Given the description of an element on the screen output the (x, y) to click on. 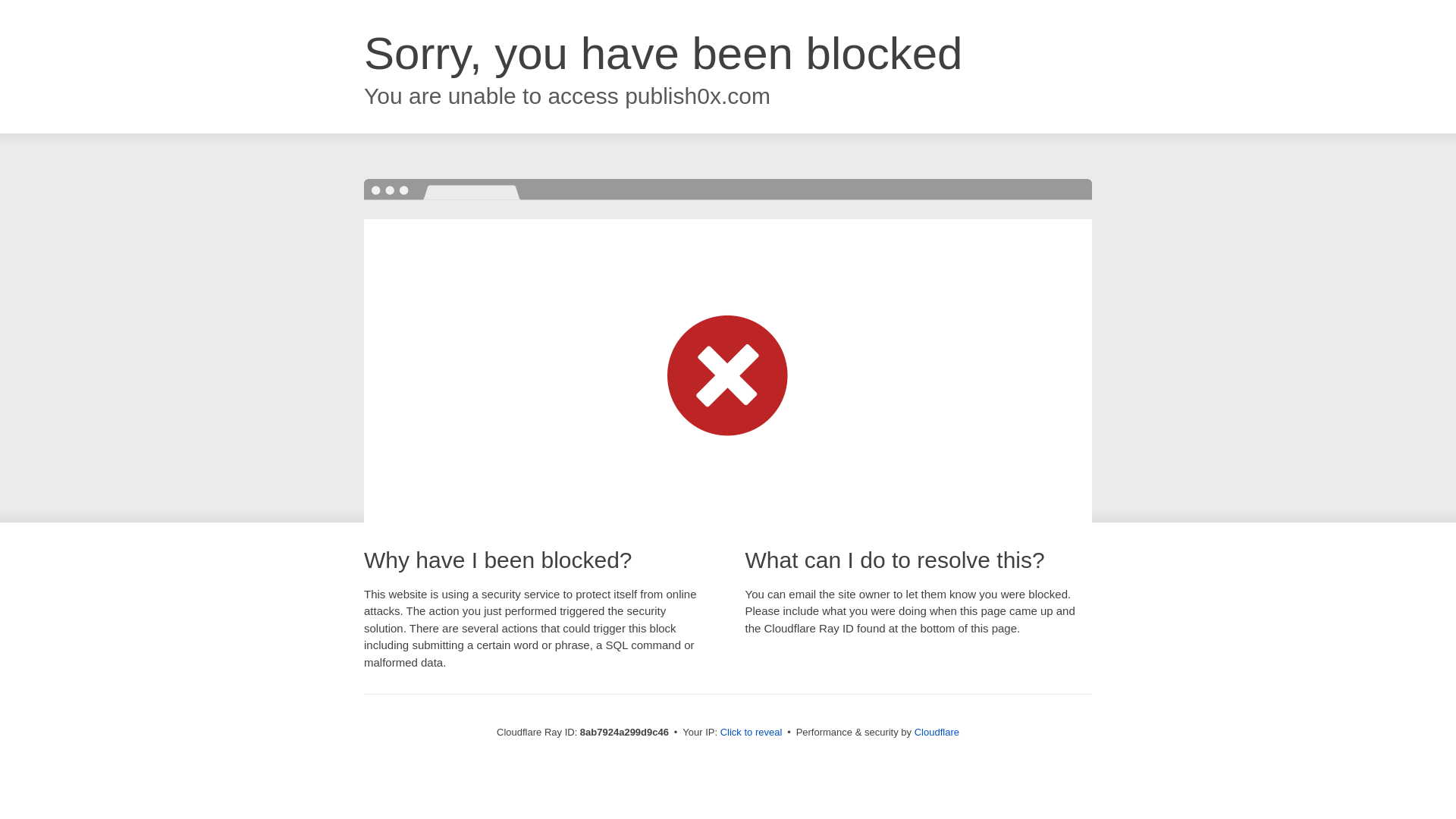
Cloudflare (936, 731)
Click to reveal (751, 732)
